Given the description of an element on the screen output the (x, y) to click on. 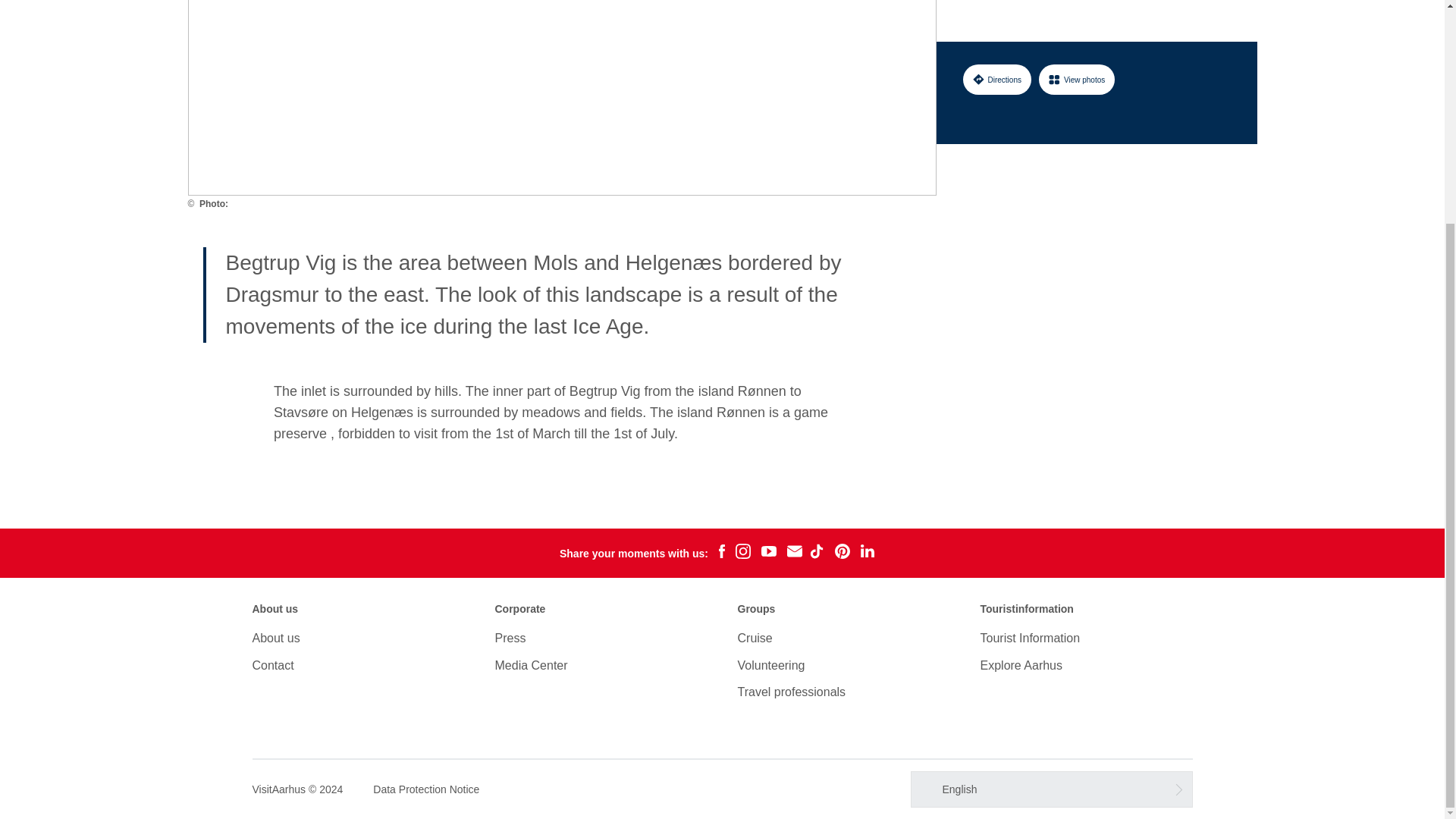
Travel professionals (790, 691)
Press (510, 637)
linkedin (867, 552)
Media Center (531, 665)
Contact (272, 665)
Travel professionals (790, 691)
About us (275, 637)
Cruise (753, 637)
About us (275, 637)
Tourist Information (1029, 637)
